Given the description of an element on the screen output the (x, y) to click on. 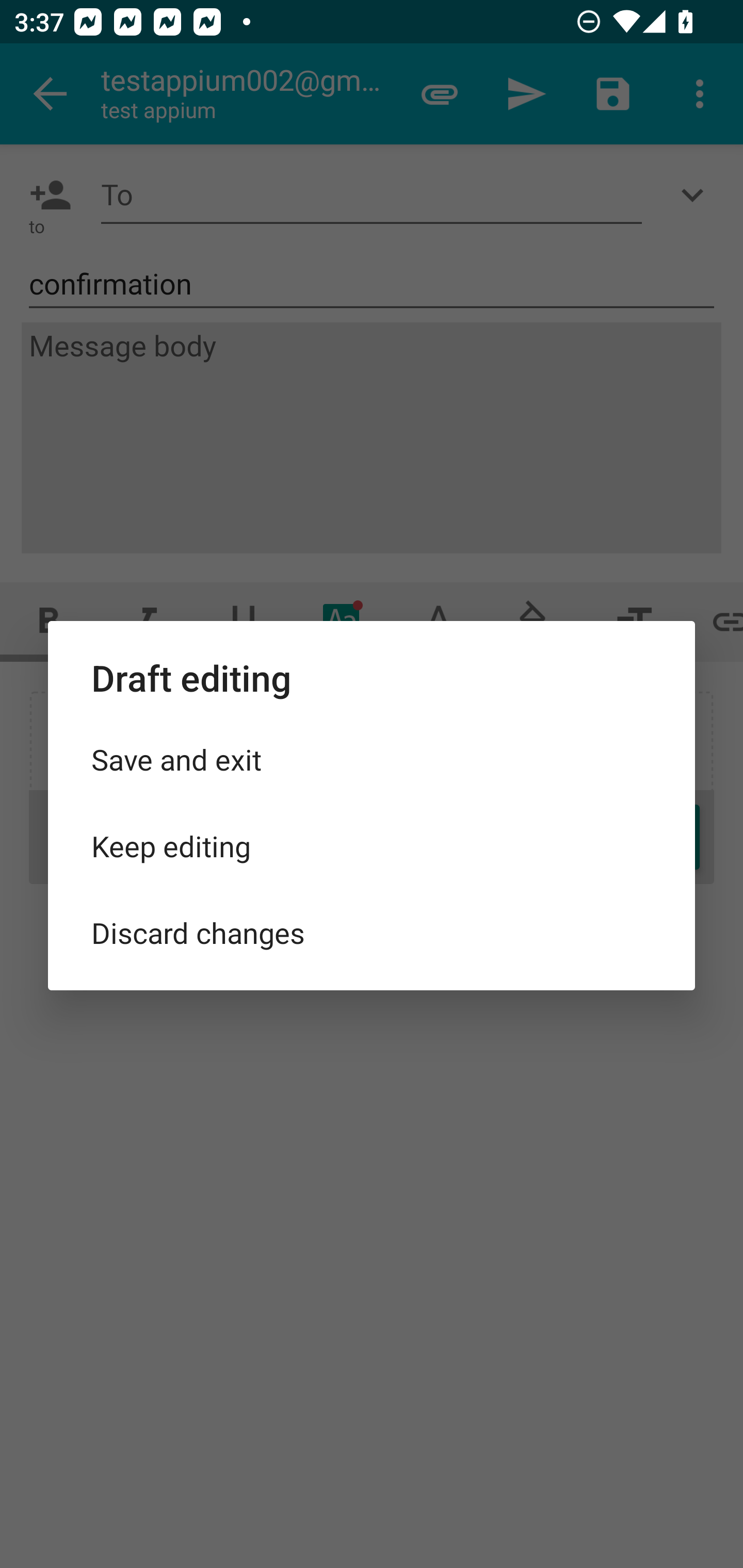
Save and exit (371, 759)
Keep editing (371, 845)
Discard changes (371, 932)
